Given the description of an element on the screen output the (x, y) to click on. 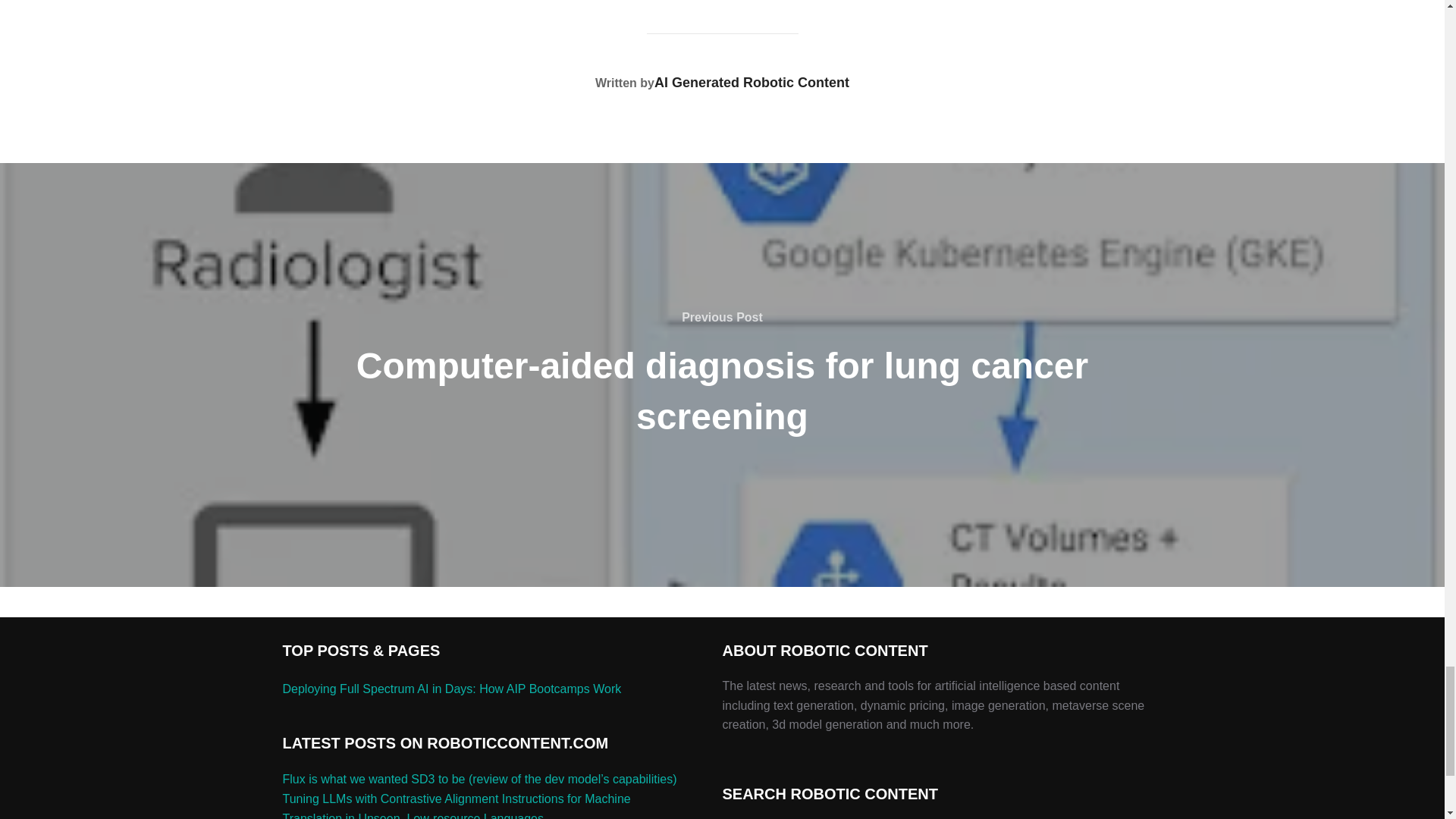
Posts by AI Generated Robotic Content (750, 82)
